Given the description of an element on the screen output the (x, y) to click on. 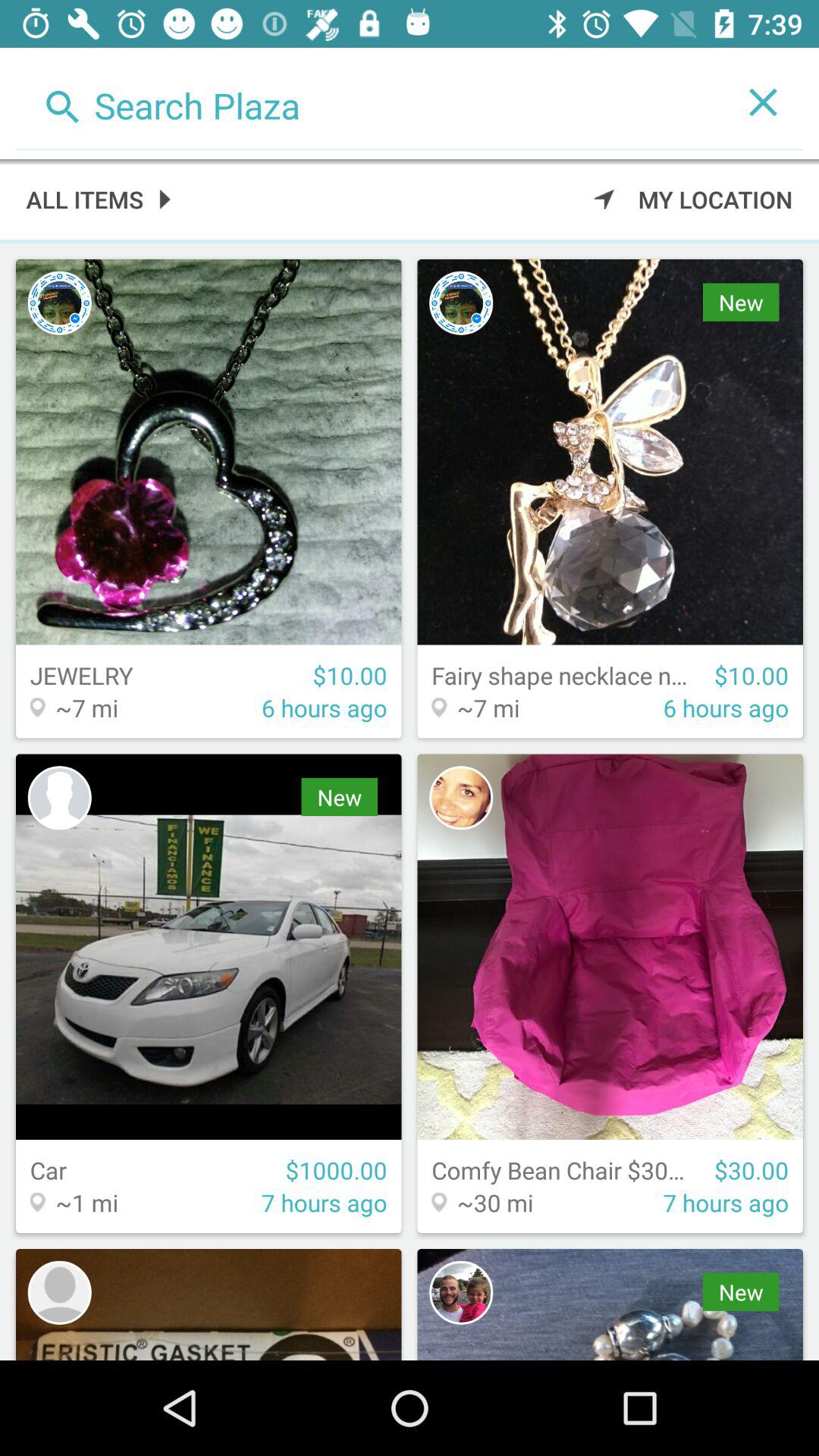
select profile (59, 302)
